Given the description of an element on the screen output the (x, y) to click on. 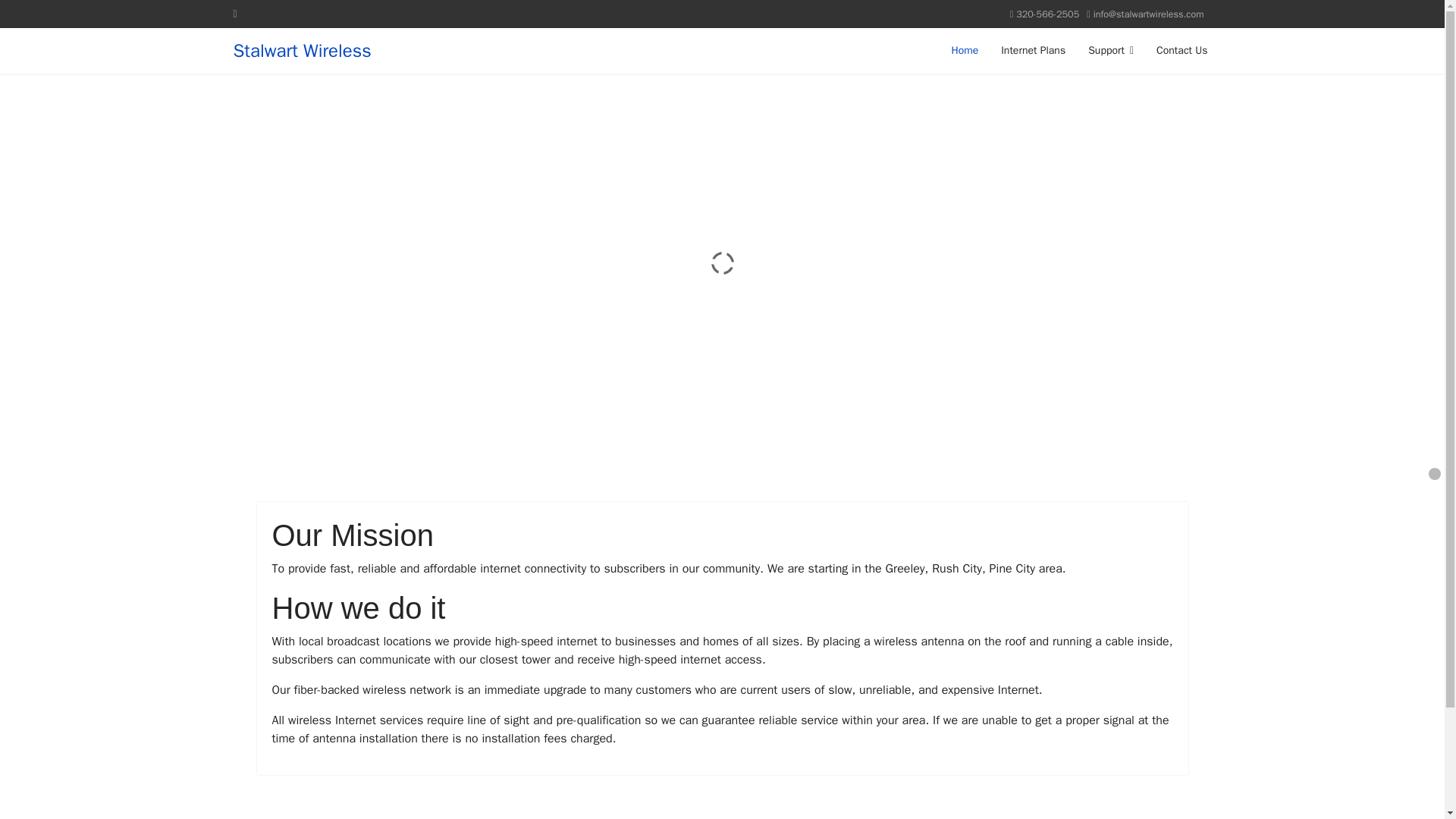
Stalwart Wireless (301, 50)
Contact Us (1175, 50)
Internet Plans (1033, 50)
Home (964, 50)
320-566-2505 (1047, 14)
